Given the description of an element on the screen output the (x, y) to click on. 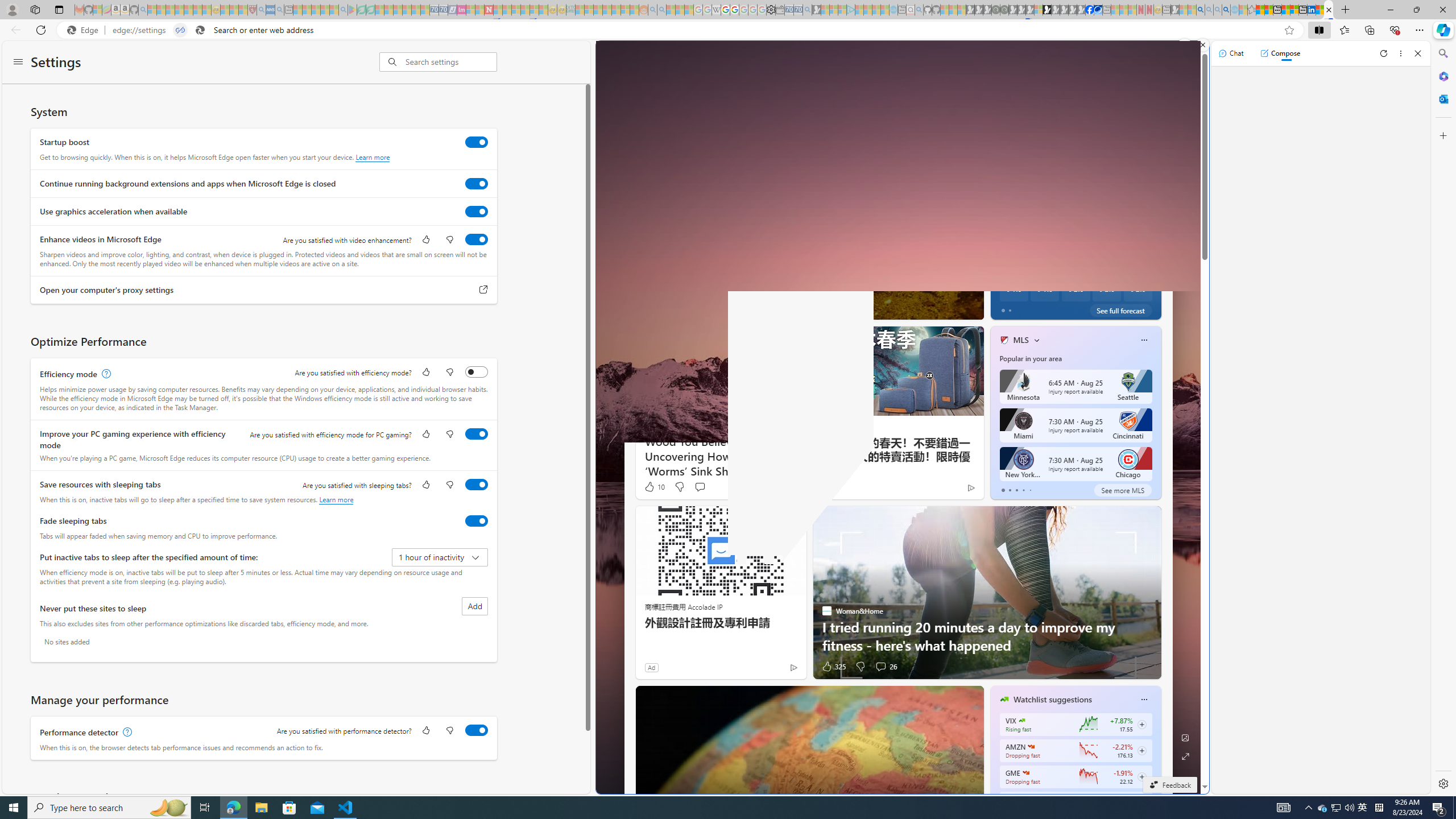
325 Like (833, 666)
Class: follow-button  m (1142, 776)
12 Lies You Were Told About Space (1159, 287)
View comments 10 Comment (1054, 307)
Search settings (451, 61)
